Given the description of an element on the screen output the (x, y) to click on. 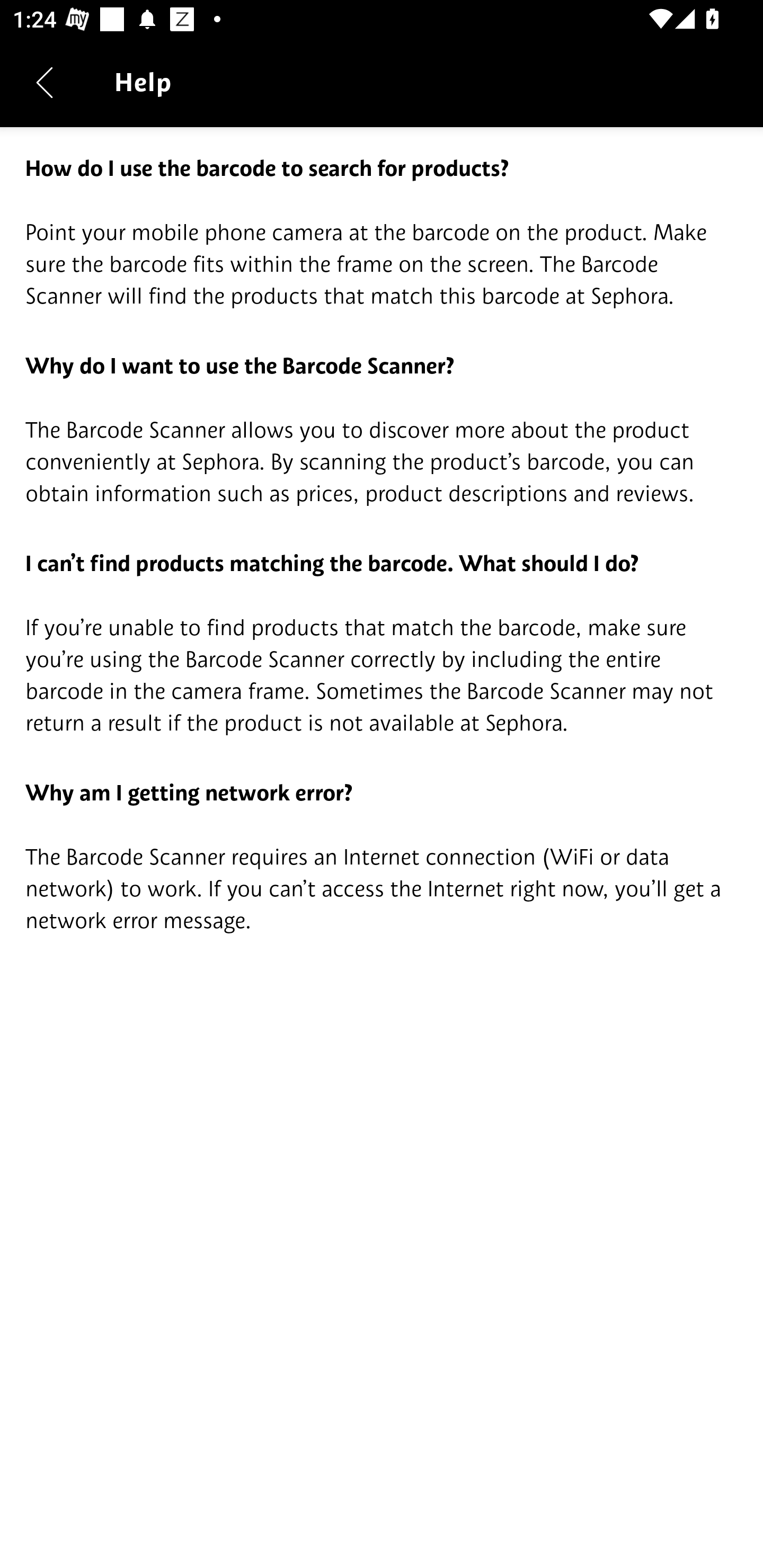
Navigate up (44, 82)
